Given the description of an element on the screen output the (x, y) to click on. 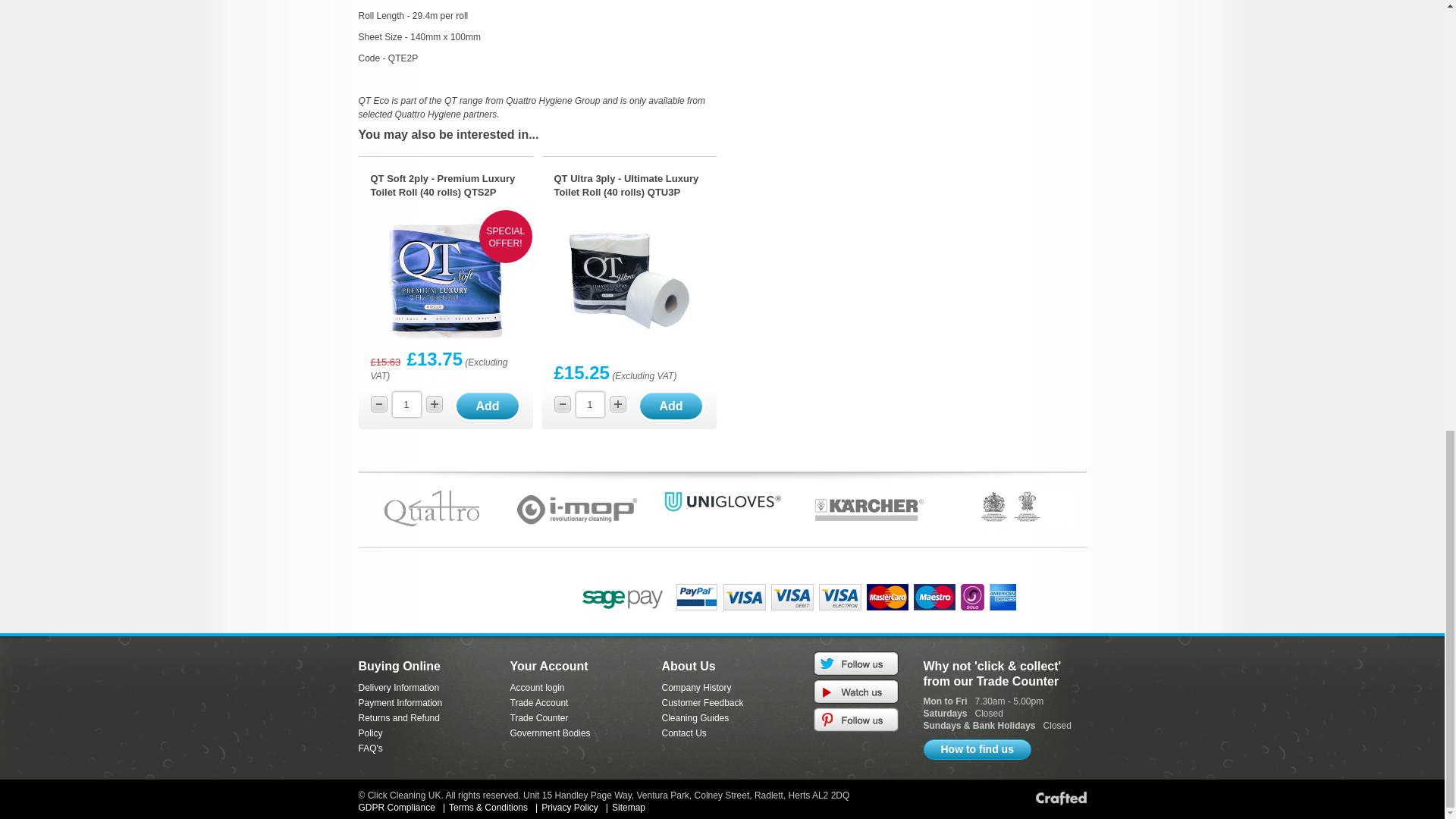
1 (405, 404)
1 (589, 404)
eCommerce web design (1059, 798)
